Given the description of an element on the screen output the (x, y) to click on. 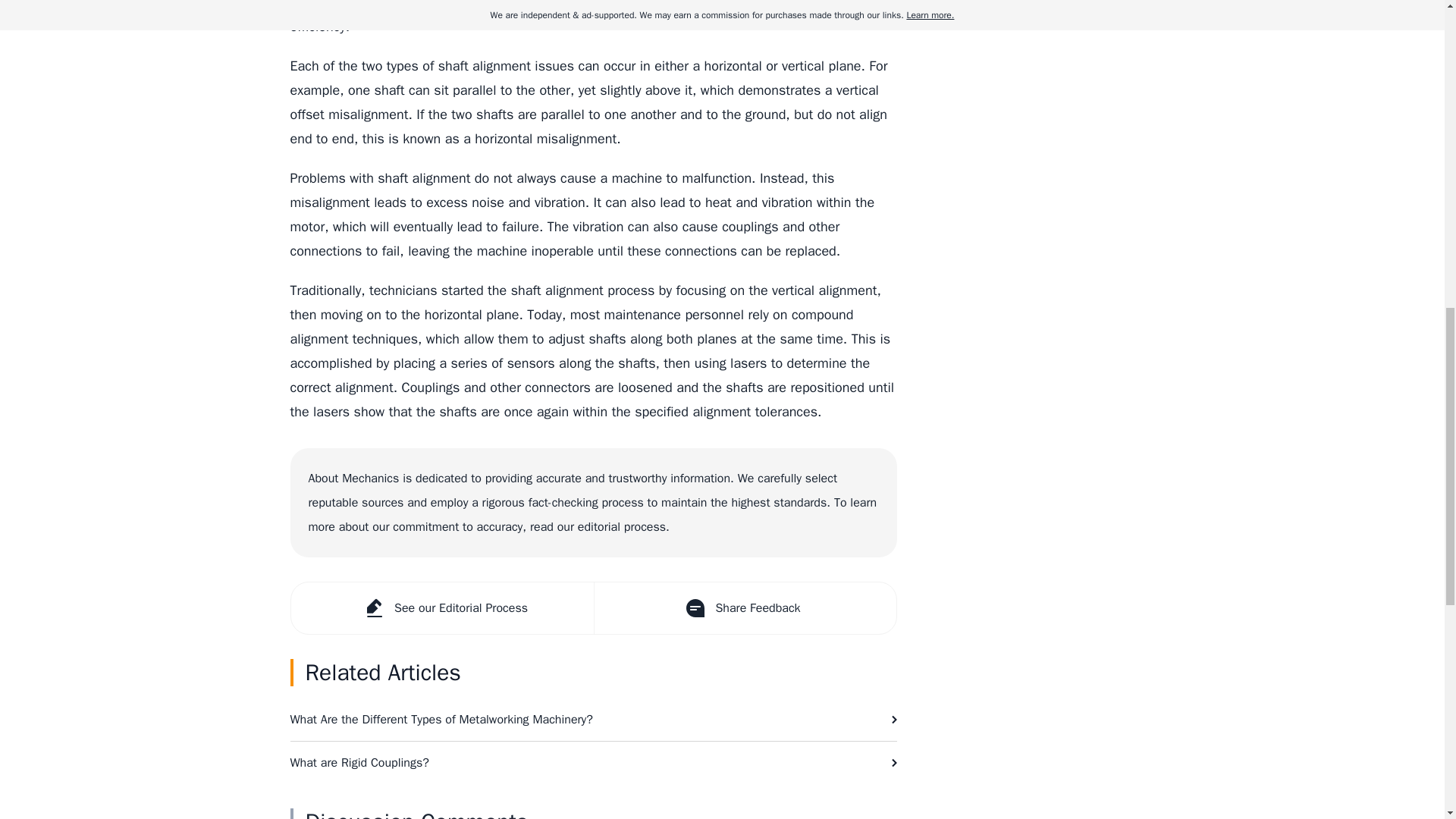
What Are the Different Types of Metalworking Machinery? (592, 719)
See our Editorial Process (442, 607)
Share Feedback (743, 607)
What are Rigid Couplings? (592, 762)
